Given the description of an element on the screen output the (x, y) to click on. 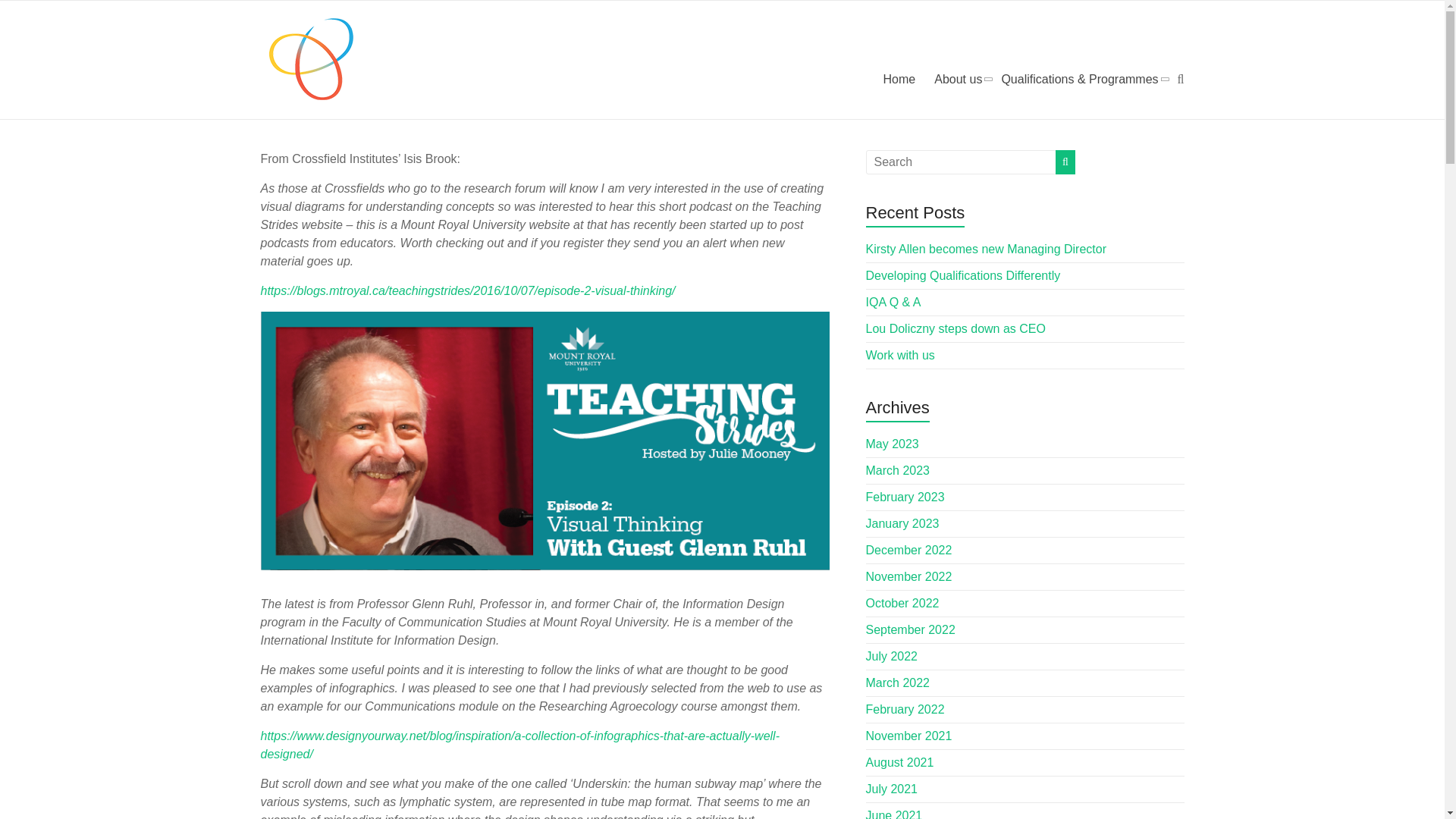
Crossfields Institute (326, 46)
Developing Qualifications Differently (963, 275)
Lou Doliczny steps down as CEO (955, 328)
May 2023 (892, 443)
Kirsty Allen becomes new Managing Director (986, 248)
About us (957, 78)
Crossfields Institute (326, 46)
Home (899, 78)
Work with us (900, 354)
